Given the description of an element on the screen output the (x, y) to click on. 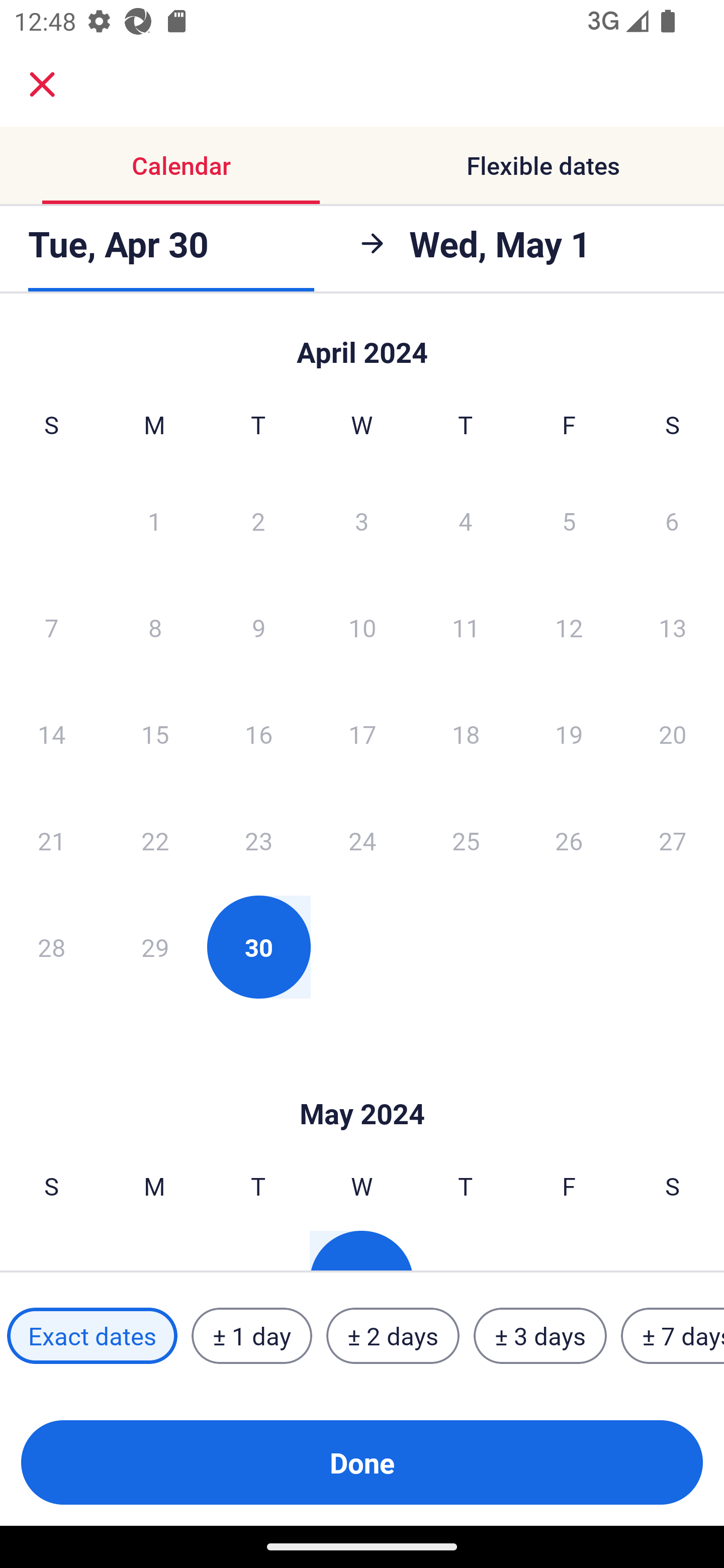
close. (42, 84)
Flexible dates (542, 164)
Skip to Done (362, 343)
1 Monday, April 1, 2024 (154, 520)
2 Tuesday, April 2, 2024 (257, 520)
3 Wednesday, April 3, 2024 (361, 520)
4 Thursday, April 4, 2024 (465, 520)
5 Friday, April 5, 2024 (568, 520)
6 Saturday, April 6, 2024 (672, 520)
7 Sunday, April 7, 2024 (51, 626)
8 Monday, April 8, 2024 (155, 626)
9 Tuesday, April 9, 2024 (258, 626)
10 Wednesday, April 10, 2024 (362, 626)
11 Thursday, April 11, 2024 (465, 626)
12 Friday, April 12, 2024 (569, 626)
13 Saturday, April 13, 2024 (672, 626)
14 Sunday, April 14, 2024 (51, 733)
15 Monday, April 15, 2024 (155, 733)
16 Tuesday, April 16, 2024 (258, 733)
17 Wednesday, April 17, 2024 (362, 733)
18 Thursday, April 18, 2024 (465, 733)
19 Friday, April 19, 2024 (569, 733)
20 Saturday, April 20, 2024 (672, 733)
21 Sunday, April 21, 2024 (51, 840)
22 Monday, April 22, 2024 (155, 840)
23 Tuesday, April 23, 2024 (258, 840)
24 Wednesday, April 24, 2024 (362, 840)
25 Thursday, April 25, 2024 (465, 840)
26 Friday, April 26, 2024 (569, 840)
27 Saturday, April 27, 2024 (672, 840)
28 Sunday, April 28, 2024 (51, 946)
29 Monday, April 29, 2024 (155, 946)
Skip to Done (362, 1083)
Exact dates (92, 1335)
± 1 day (251, 1335)
± 2 days (392, 1335)
± 3 days (539, 1335)
± 7 days (672, 1335)
Done (361, 1462)
